Given the description of an element on the screen output the (x, y) to click on. 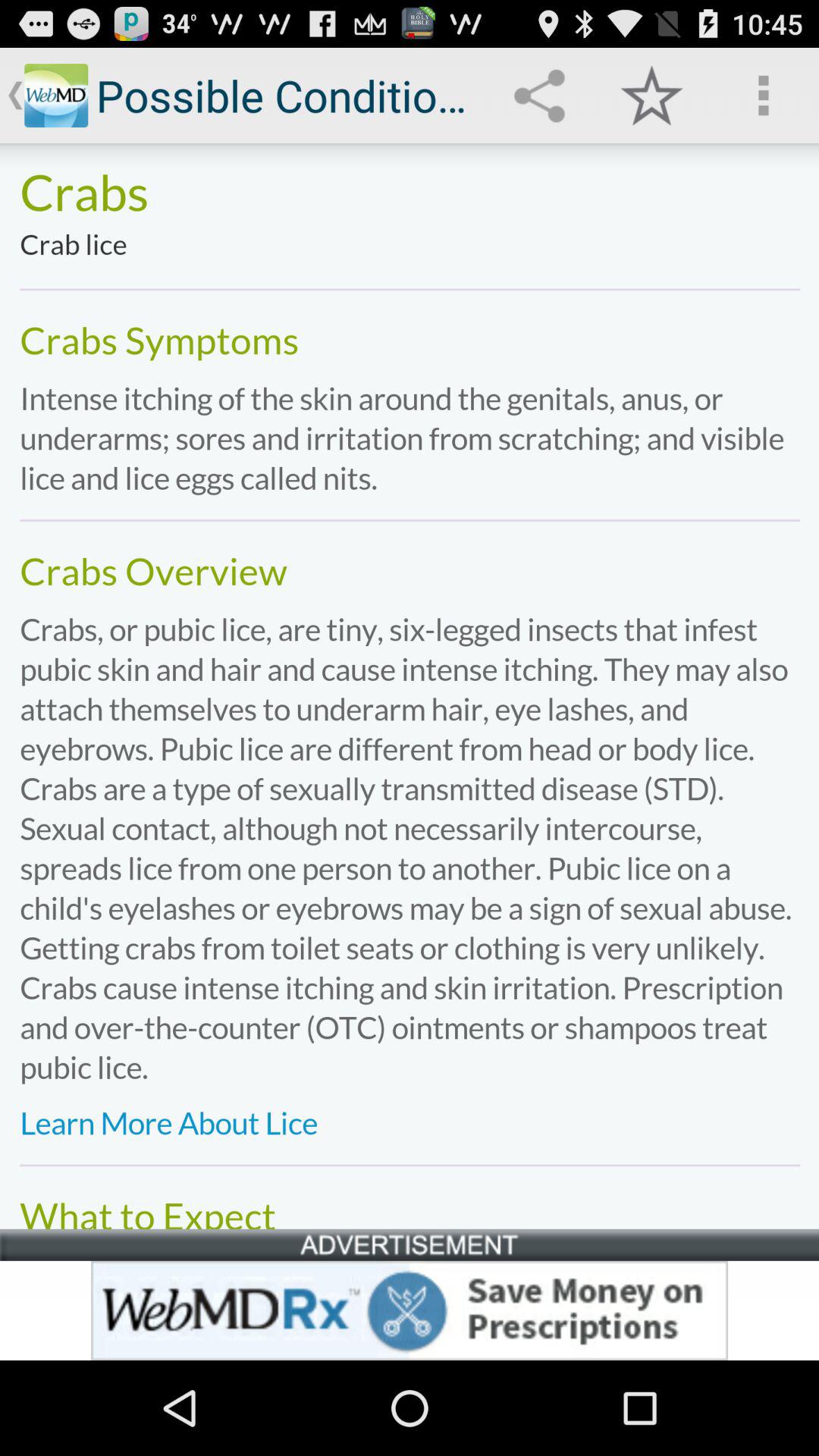
condition description box (409, 686)
